Given the description of an element on the screen output the (x, y) to click on. 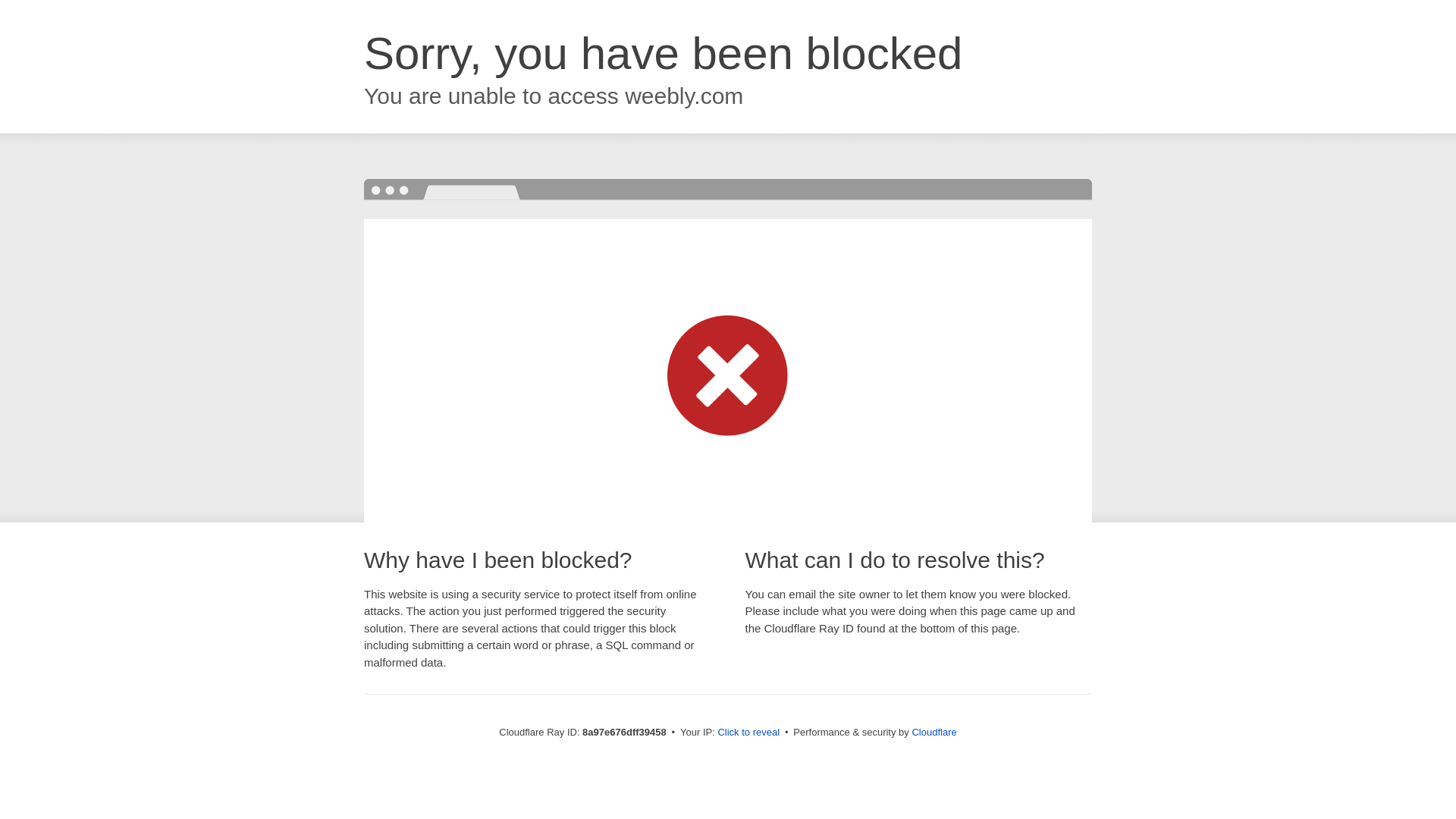
Click to reveal (747, 732)
Cloudflare (933, 731)
